Given the description of an element on the screen output the (x, y) to click on. 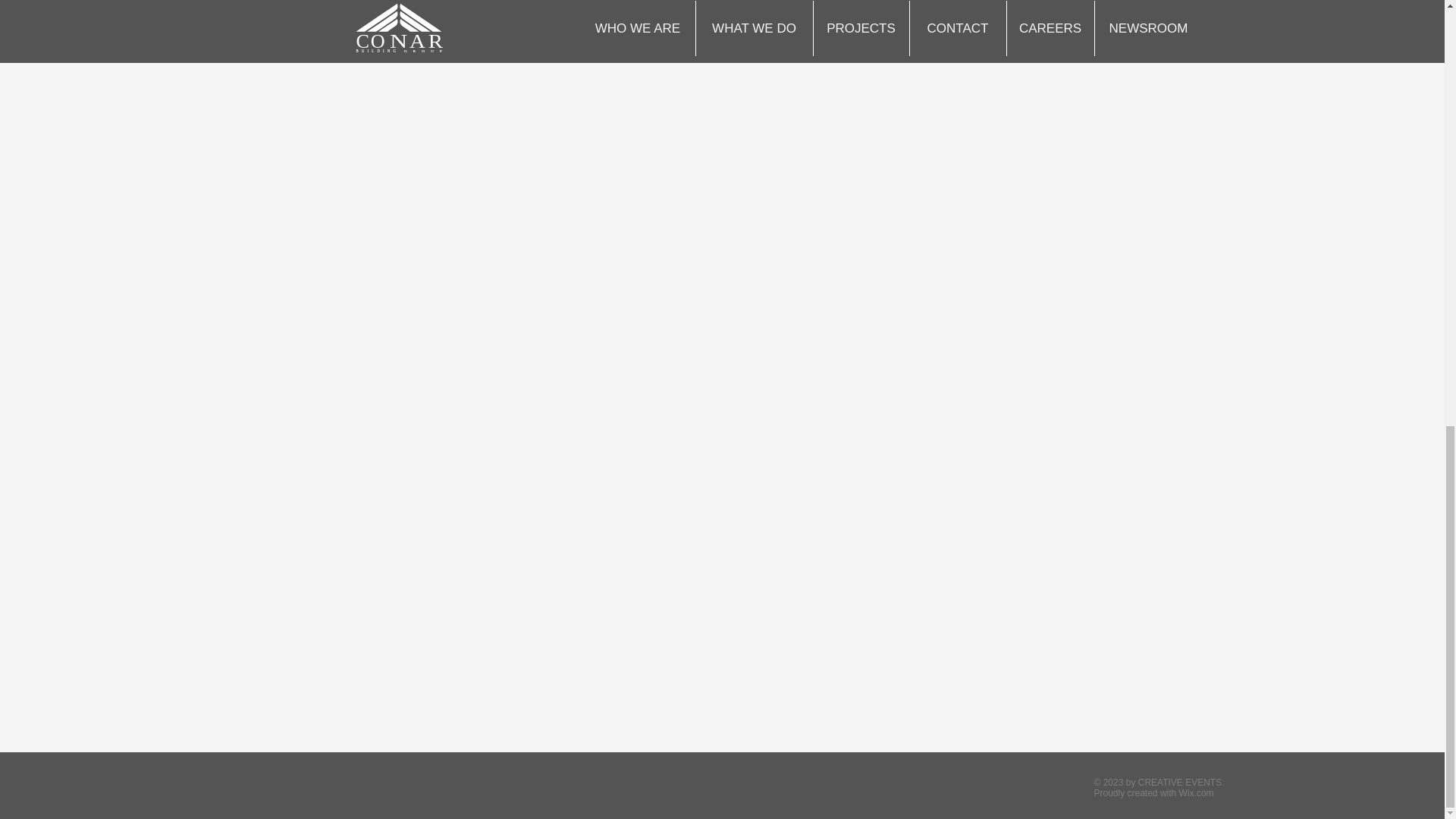
Wix.com (1196, 792)
